Given the description of an element on the screen output the (x, y) to click on. 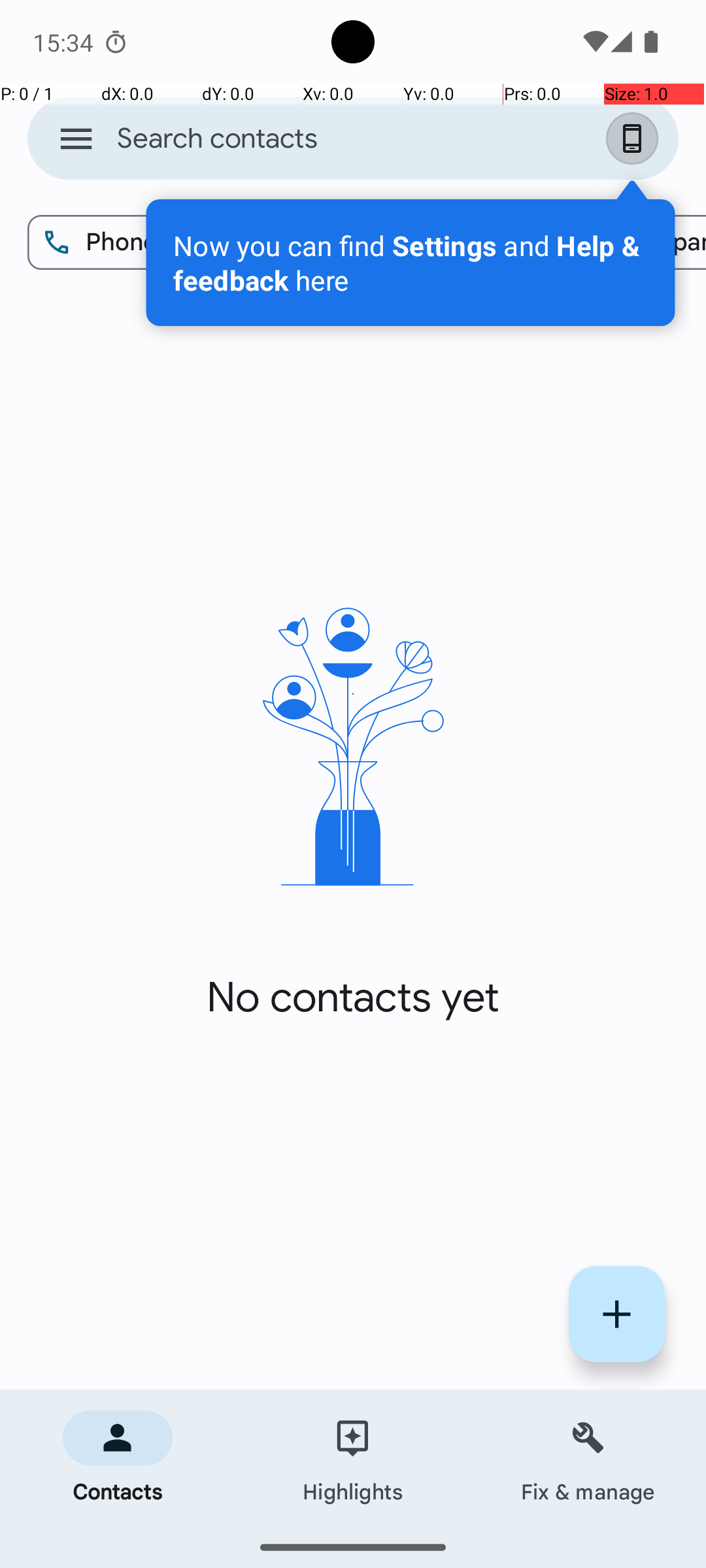
Now you can find Settings and Help & feedback here
Open account and settings. Element type: android.view.ViewGroup (409, 262)
Wifi signal full. Element type: android.widget.FrameLayout (593, 41)
